Given the description of an element on the screen output the (x, y) to click on. 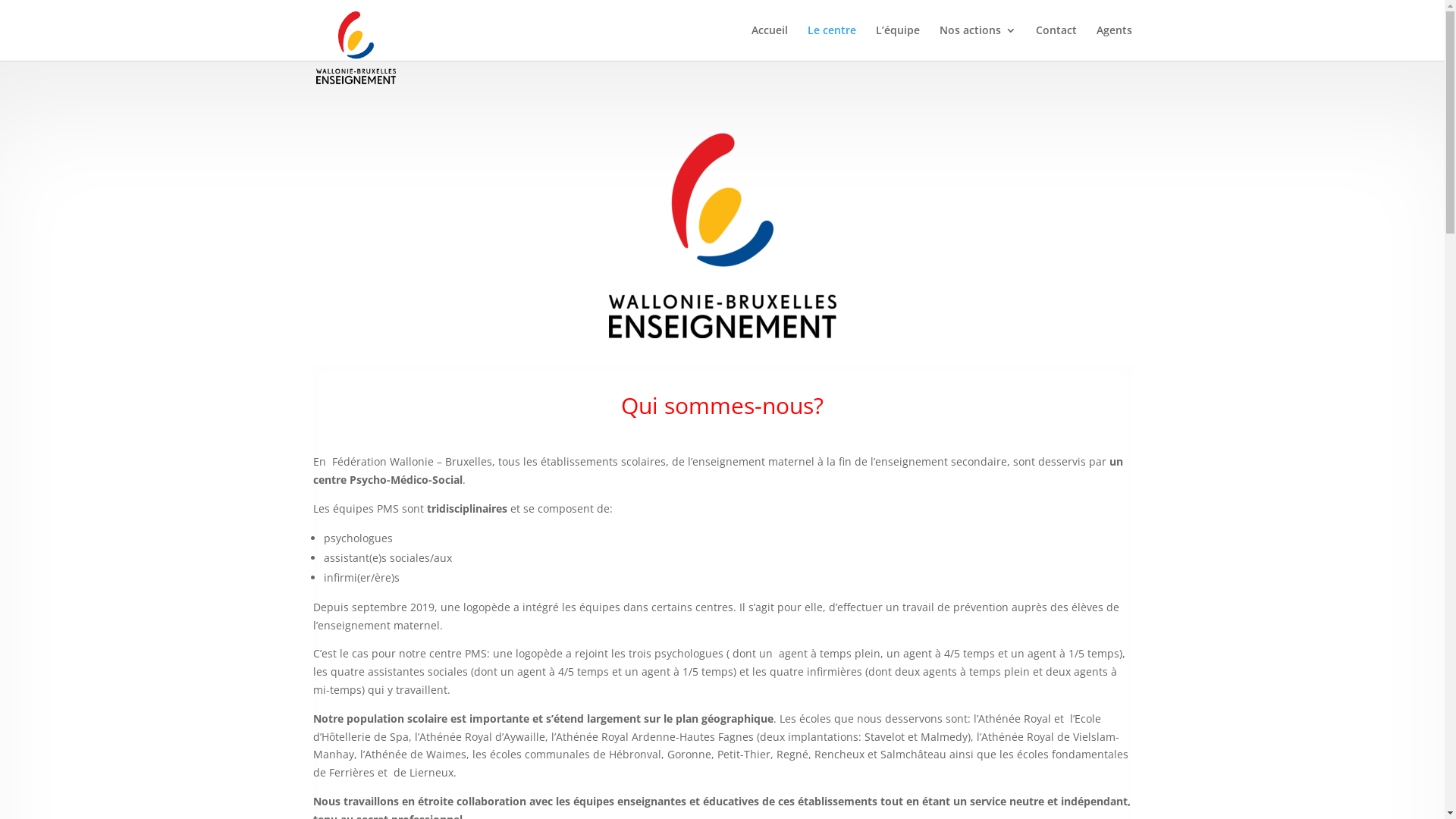
Le centre Element type: text (830, 42)
Contact Element type: text (1055, 42)
Accueil Element type: text (768, 42)
Agents Element type: text (1114, 42)
Nos actions Element type: text (976, 42)
